Given the description of an element on the screen output the (x, y) to click on. 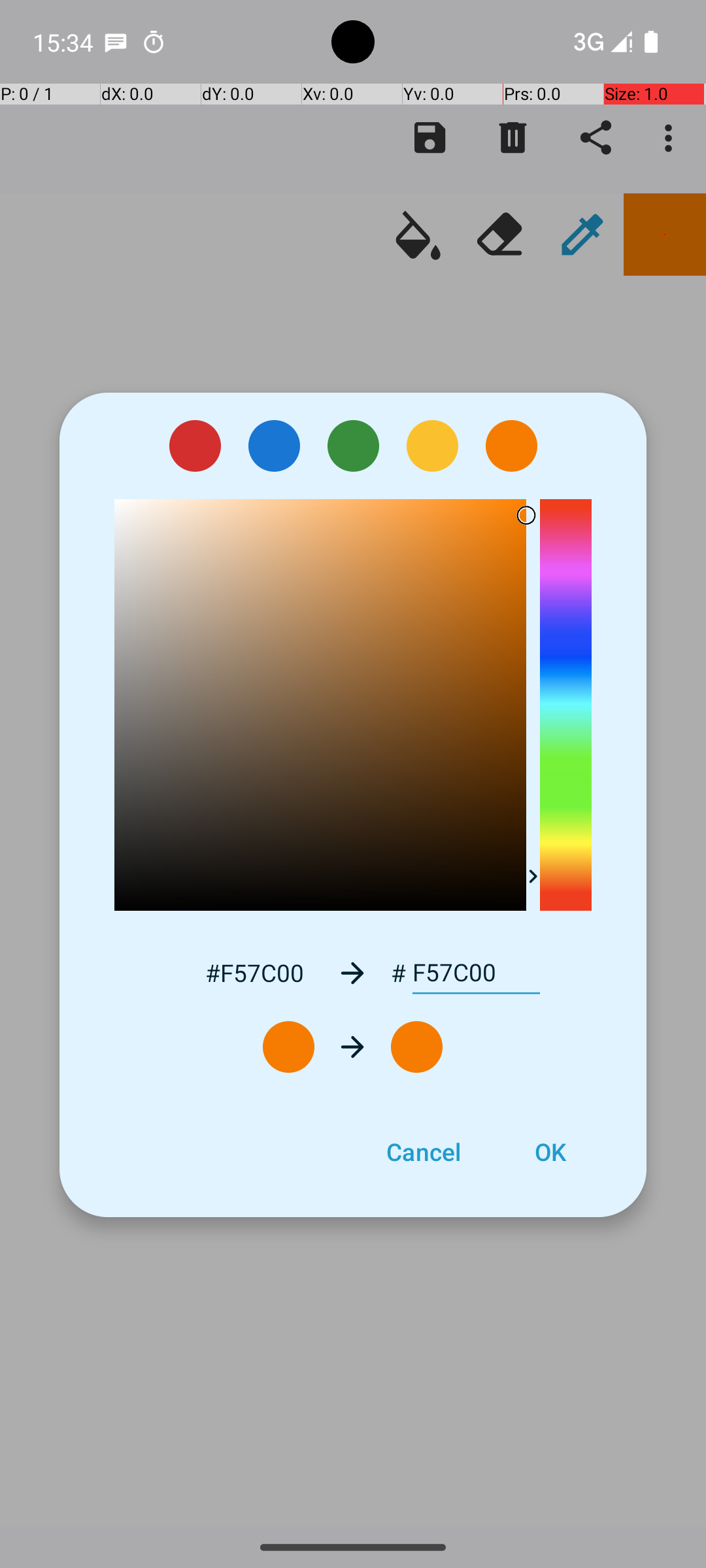
F57C00 Element type: android.widget.EditText (475, 972)
